Given the description of an element on the screen output the (x, y) to click on. 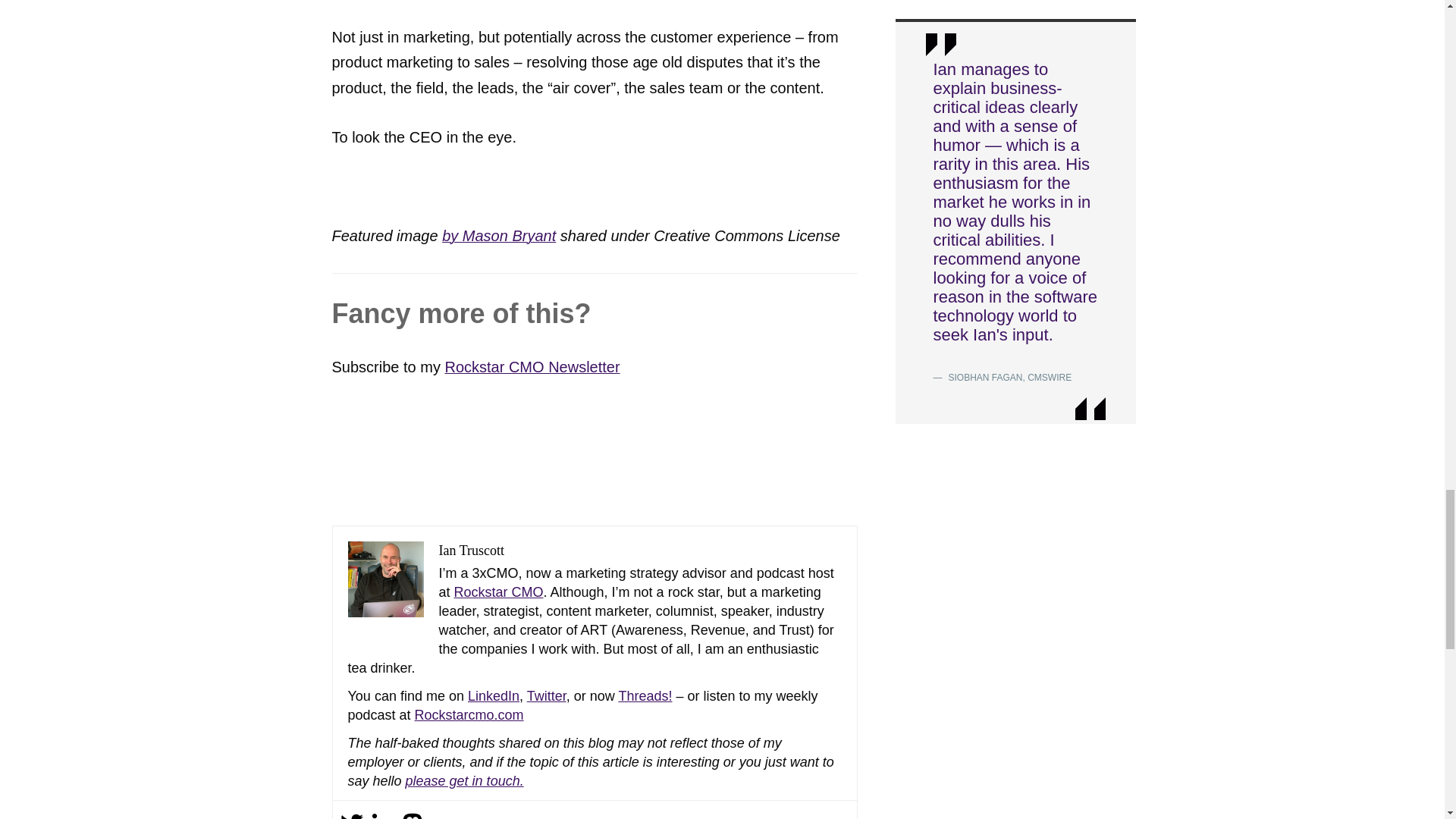
Threads! (644, 695)
Rockstar CMO Newsletter (532, 366)
please get in touch. (465, 780)
LinkedIn (493, 695)
Mastodont (411, 815)
by Mason Bryant (499, 235)
Rockstar CMO (498, 591)
Twitter (546, 695)
Rockstarcmo.com (469, 714)
Linkedin (381, 815)
Twitter (350, 815)
Ian Truscott (470, 549)
